Given the description of an element on the screen output the (x, y) to click on. 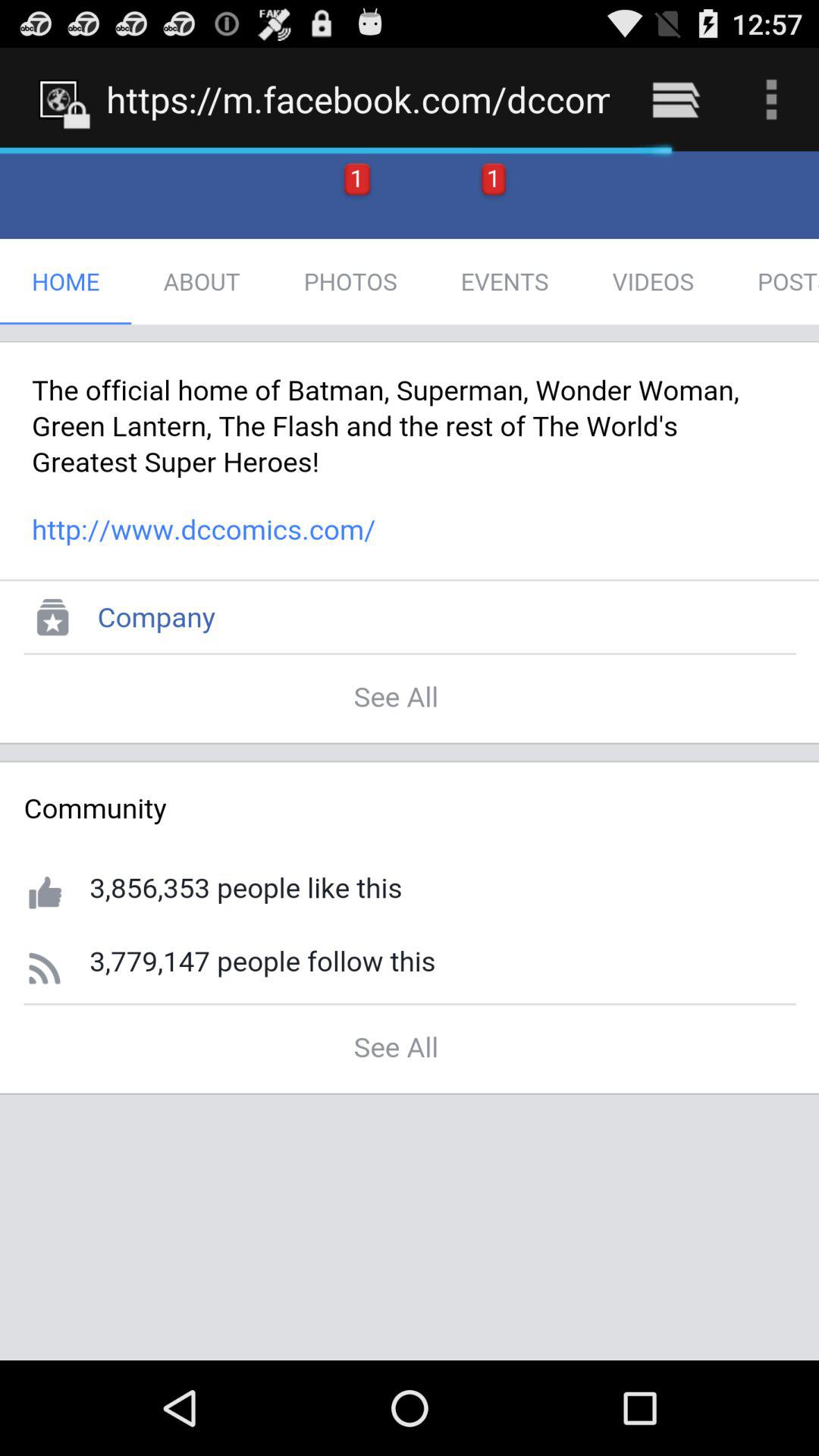
tap https m facebook item (357, 99)
